Given the description of an element on the screen output the (x, y) to click on. 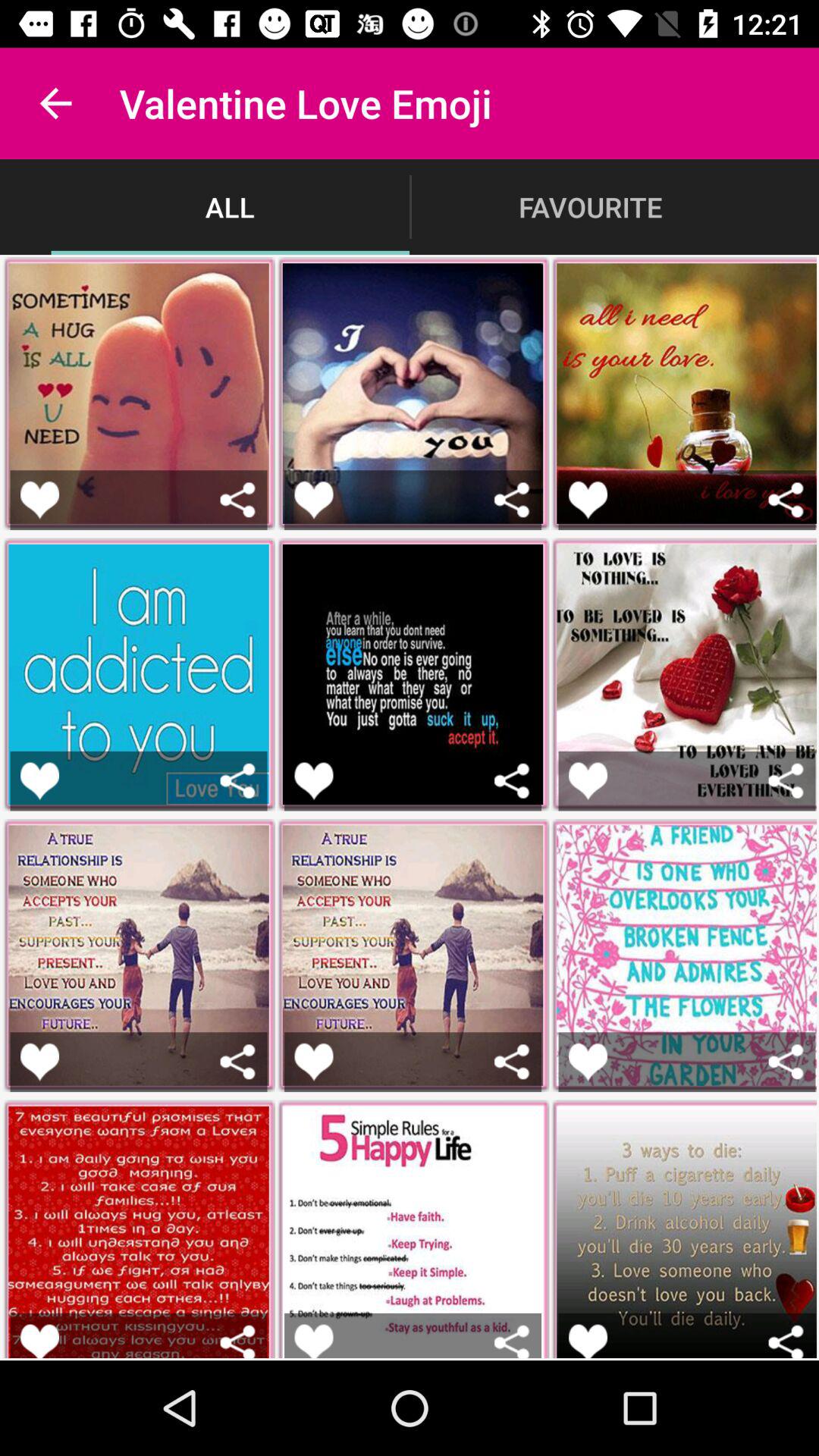
like (587, 1340)
